Given the description of an element on the screen output the (x, y) to click on. 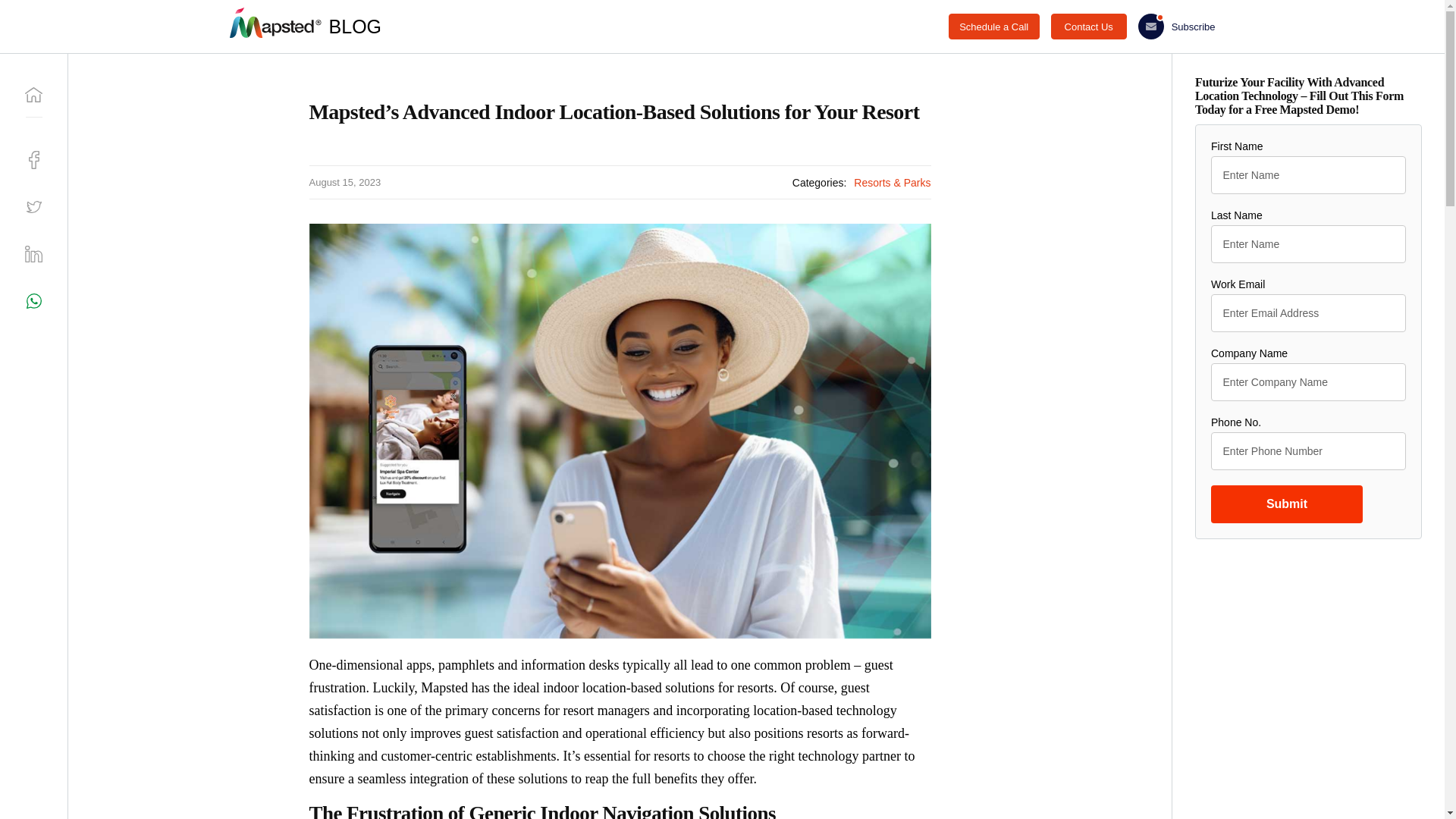
Contact Us (1088, 26)
Schedule a Call (994, 26)
Subscribe (1176, 26)
Submit (1286, 504)
BLOG (355, 25)
